Given the description of an element on the screen output the (x, y) to click on. 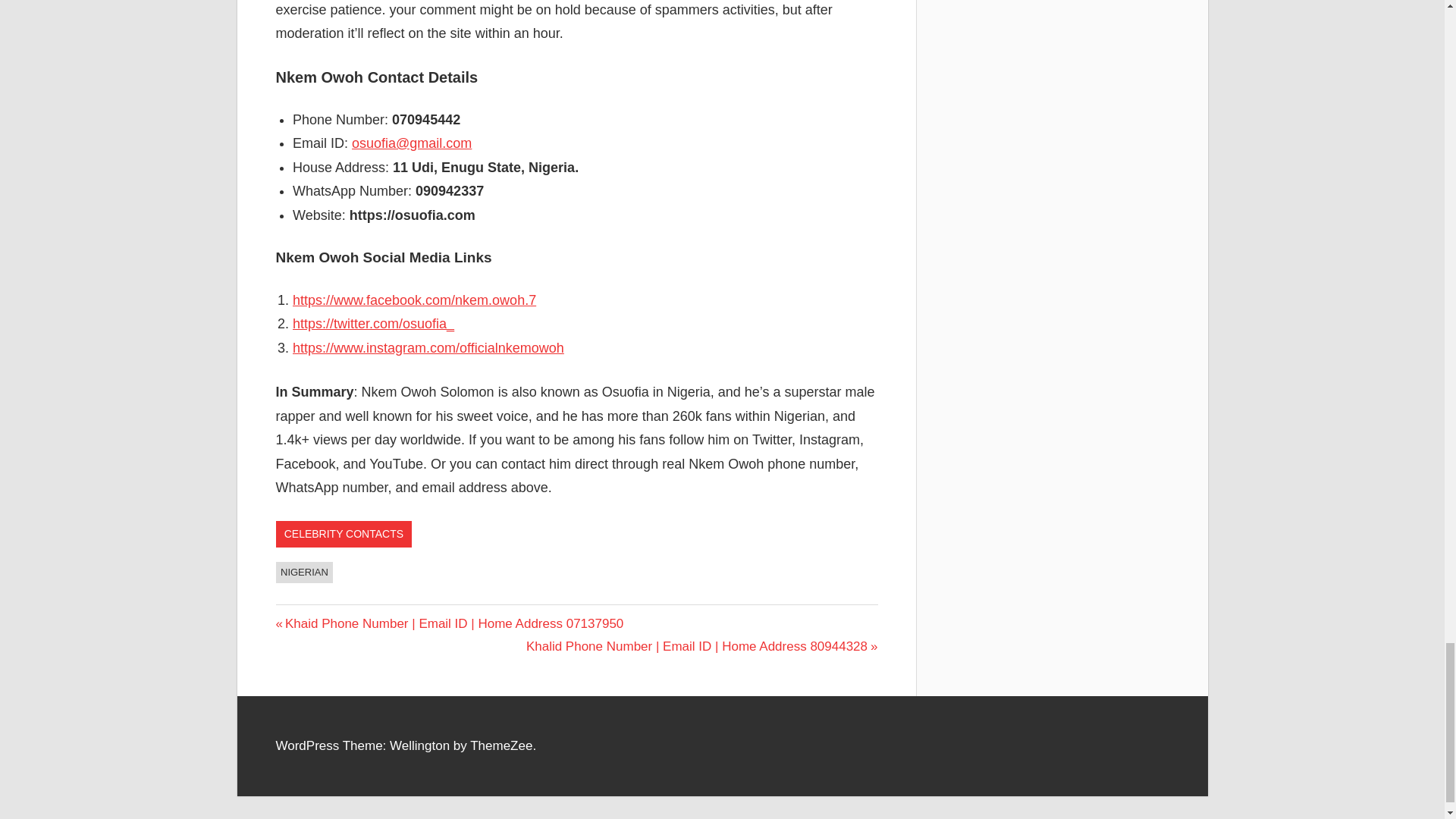
NIGERIAN (304, 572)
CELEBRITY CONTACTS (344, 533)
